Given the description of an element on the screen output the (x, y) to click on. 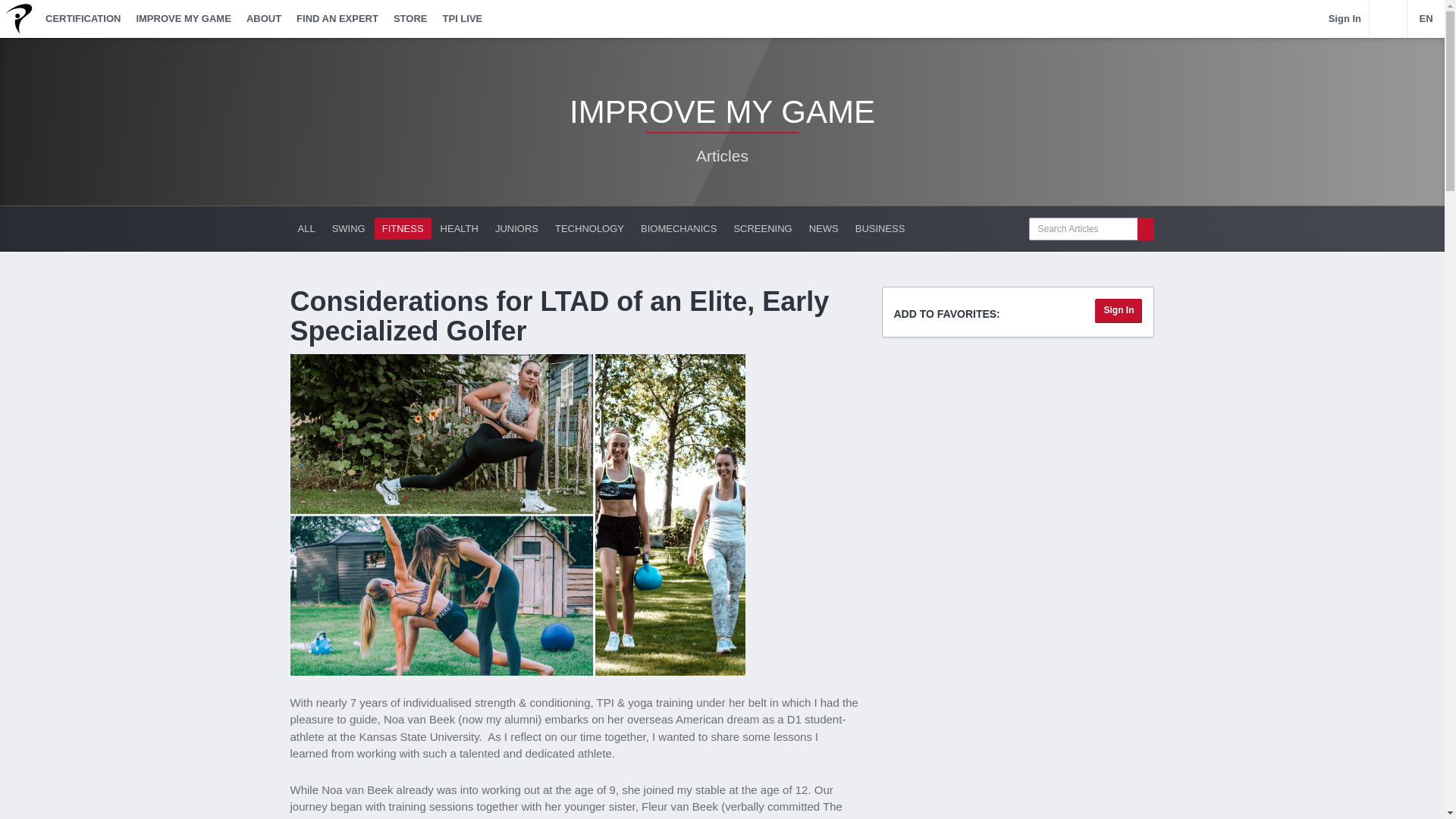
FIND AN EXPERT (336, 18)
IMPROVE MY GAME (183, 18)
JUNIORS (516, 228)
FITNESS (402, 228)
BUSINESS (879, 228)
ABOUT (263, 18)
SWING (348, 228)
CERTIFICATION (82, 18)
HEALTH (459, 228)
SCREENING (762, 228)
ALL (305, 228)
NEWS (823, 228)
TECHNOLOGY (589, 228)
TPI LIVE (462, 18)
Sign In (1117, 309)
